Given the description of an element on the screen output the (x, y) to click on. 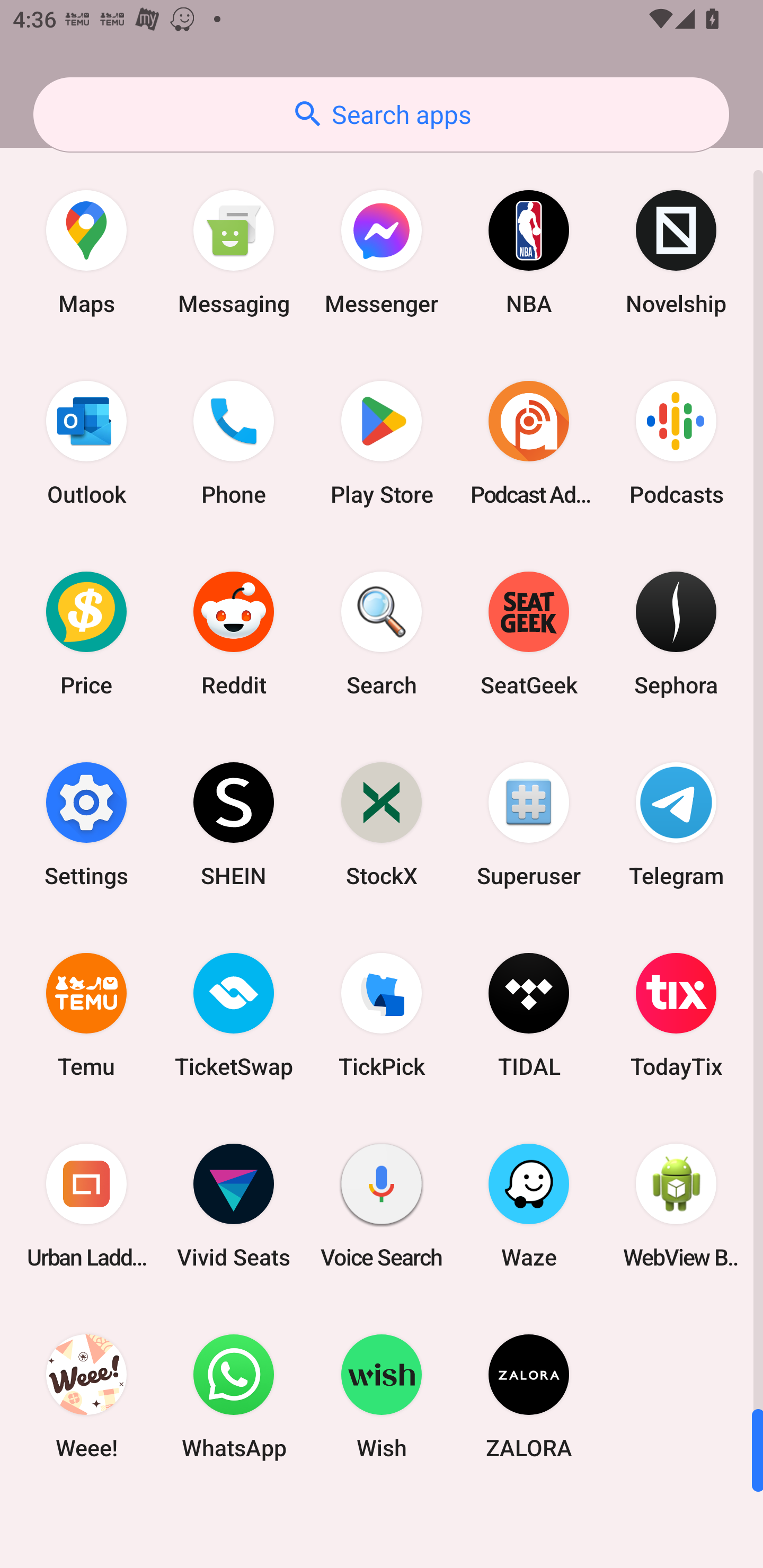
  Search apps (381, 114)
Maps (86, 252)
Messaging (233, 252)
Messenger (381, 252)
NBA (528, 252)
Novelship (676, 252)
Outlook (86, 442)
Phone (233, 442)
Play Store (381, 442)
Podcast Addict (528, 442)
Podcasts (676, 442)
Price (86, 633)
Reddit (233, 633)
Search (381, 633)
SeatGeek (528, 633)
Sephora (676, 633)
Settings (86, 823)
SHEIN (233, 823)
StockX (381, 823)
Superuser (528, 823)
Telegram (676, 823)
Temu (86, 1014)
TicketSwap (233, 1014)
TickPick (381, 1014)
TIDAL (528, 1014)
TodayTix (676, 1014)
Urban Ladder (86, 1205)
Vivid Seats (233, 1205)
Voice Search (381, 1205)
Waze (528, 1205)
WebView Browser Tester (676, 1205)
Weee! (86, 1396)
WhatsApp (233, 1396)
Wish (381, 1396)
ZALORA (528, 1396)
